Given the description of an element on the screen output the (x, y) to click on. 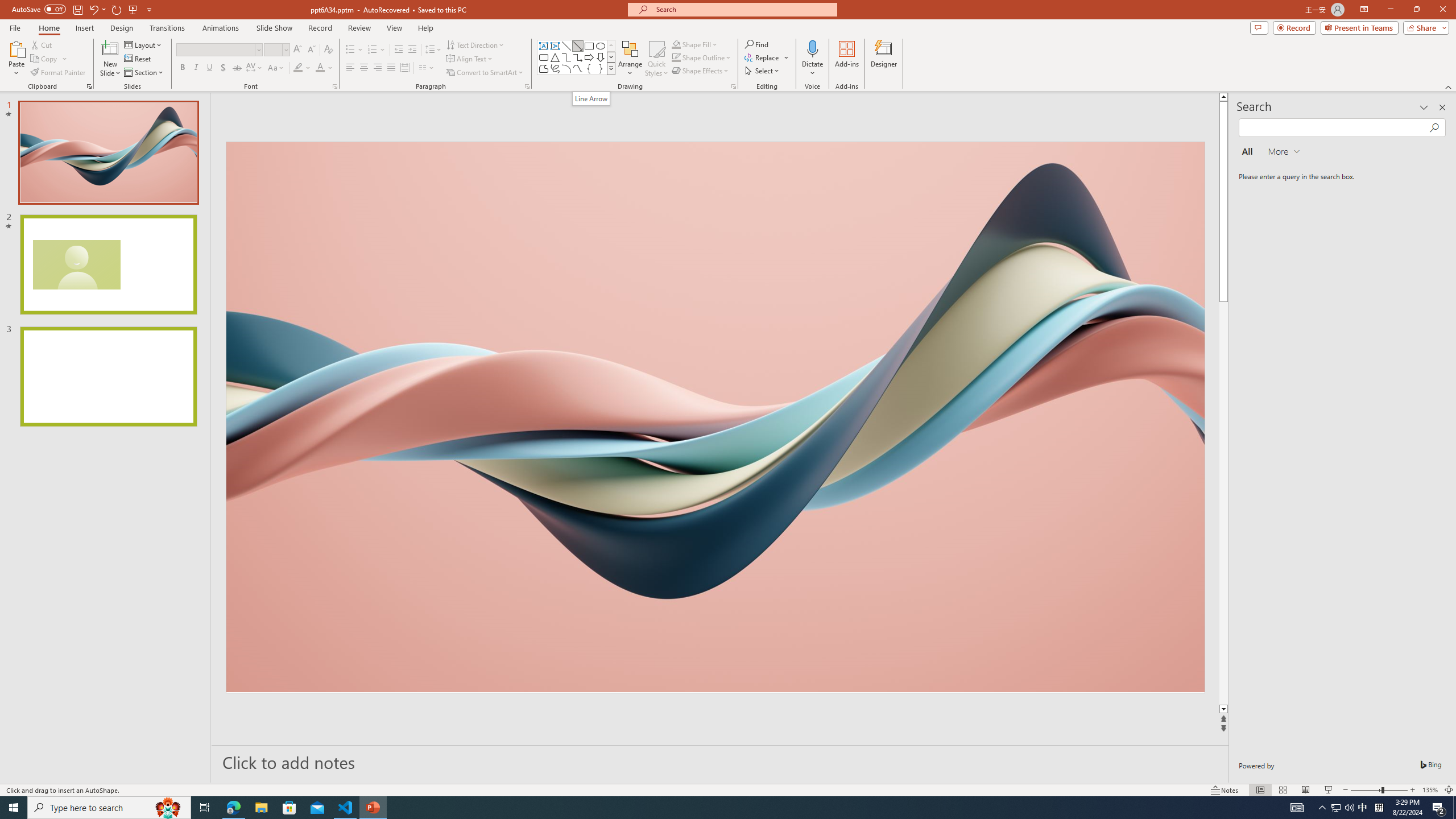
Open (285, 49)
Rectangle: Rounded Corners (543, 57)
Text Highlight Color (302, 67)
Connector: Elbow Arrow (577, 57)
Decrease Indent (398, 49)
Freeform: Shape (543, 68)
Font (219, 49)
Align Right (377, 67)
